Given the description of an element on the screen output the (x, y) to click on. 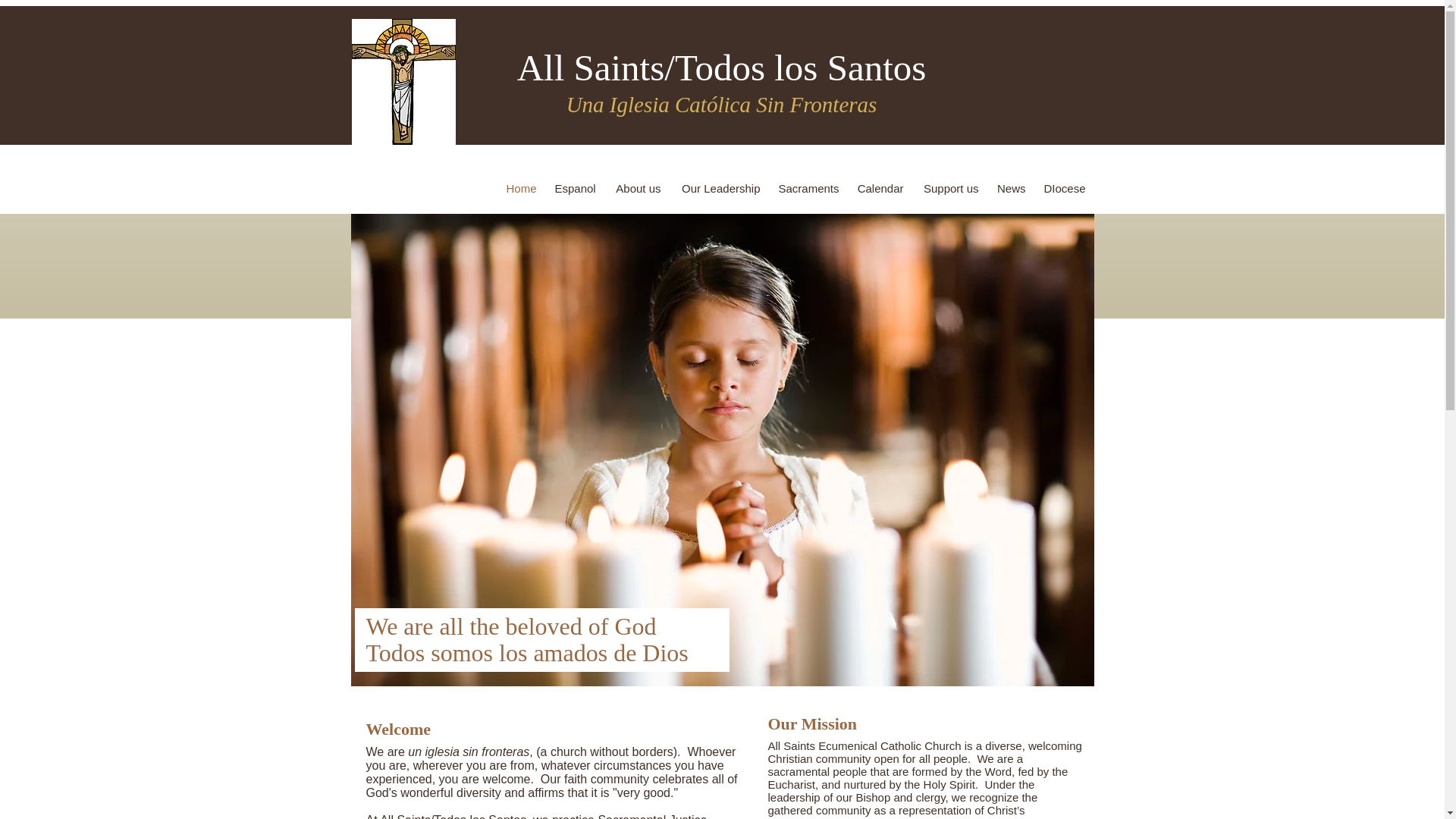
Our Leadership (719, 188)
DIocese (1063, 188)
About us (637, 188)
Espanol (575, 188)
Support us (950, 188)
News (1010, 188)
Calendar (879, 188)
Home (521, 188)
